Given the description of an element on the screen output the (x, y) to click on. 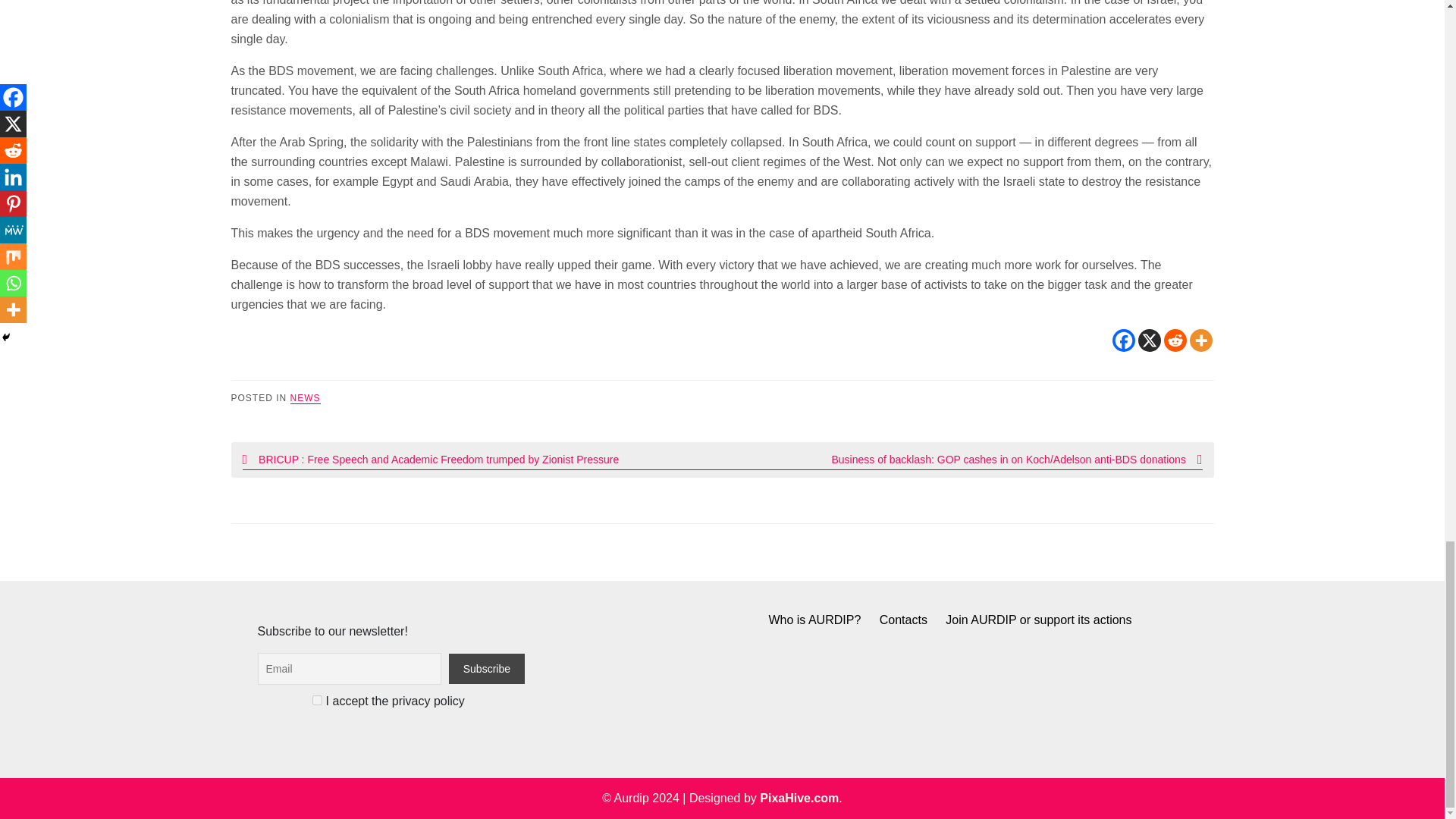
on (317, 700)
Subscribe (486, 668)
